Given the description of an element on the screen output the (x, y) to click on. 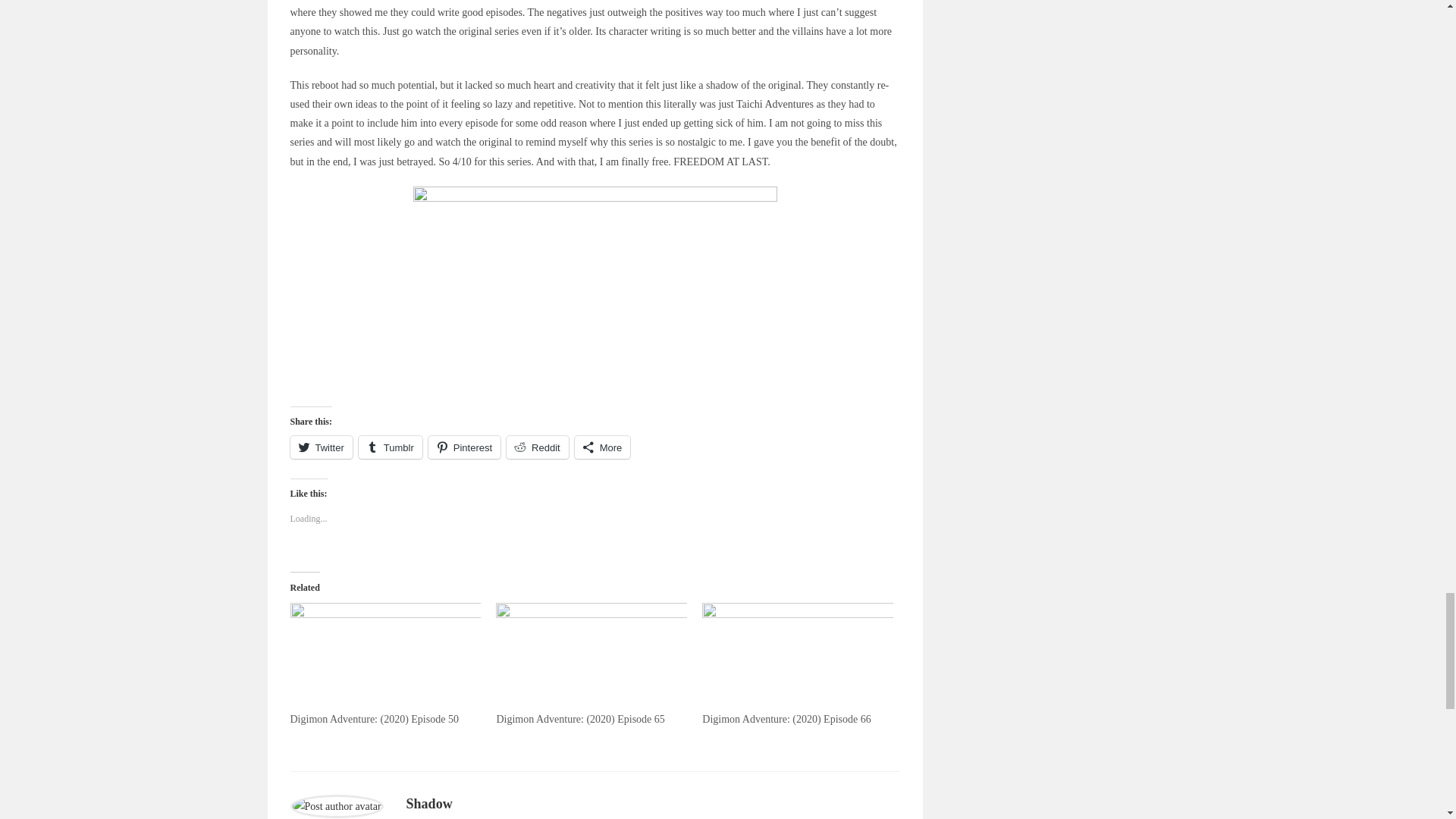
Click to share on Pinterest (464, 446)
Click to share on Reddit (537, 446)
Click to share on Twitter (320, 446)
Visit author page (335, 805)
Visit author page (429, 803)
Click to share on Tumblr (390, 446)
